Given the description of an element on the screen output the (x, y) to click on. 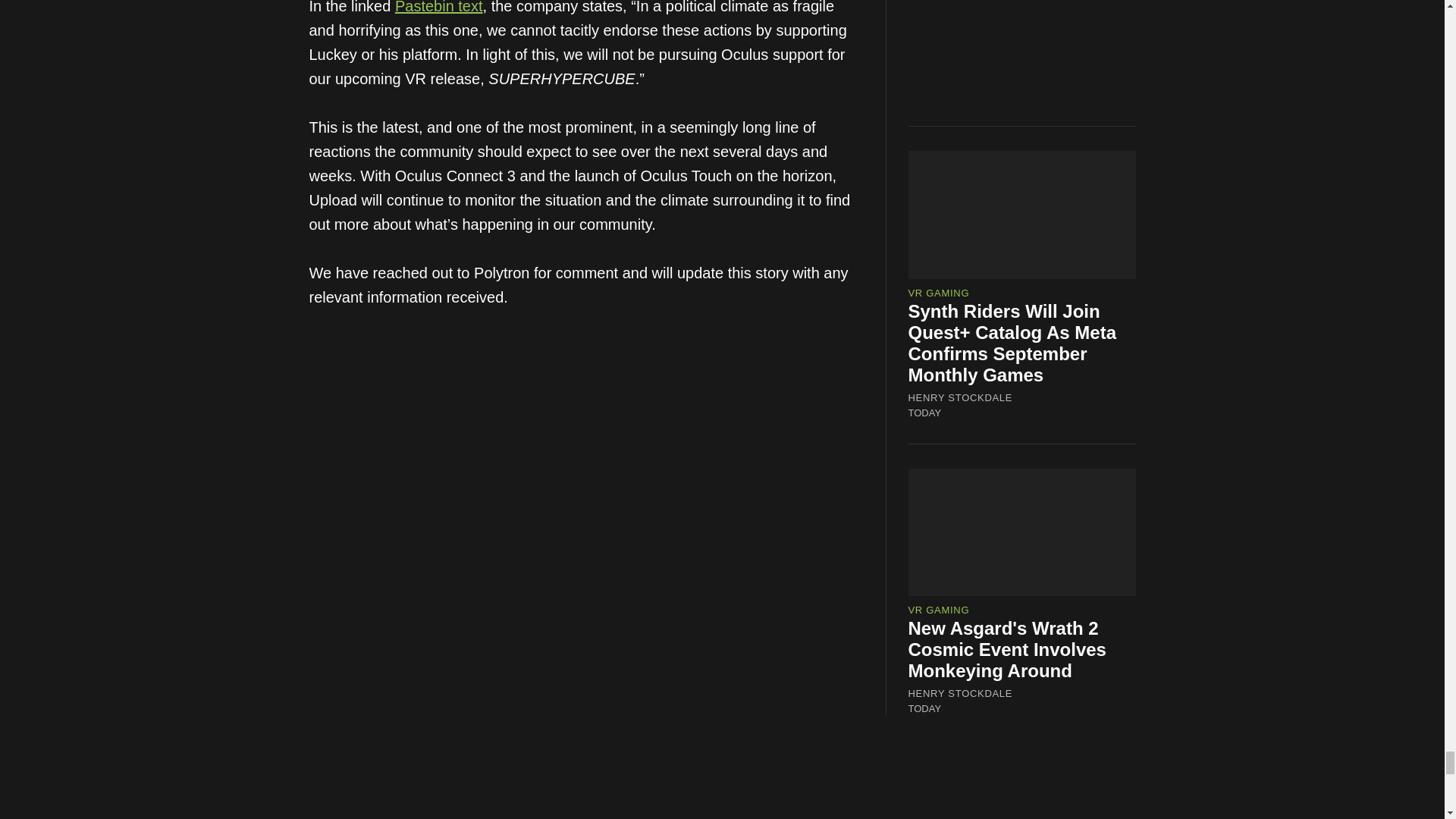
New Asgard's Wrath 2 Cosmic Event Involves Monkeying Around (1007, 649)
Pastebin text (438, 7)
VR GAMING (938, 292)
VR GAMING (938, 609)
HENRY STOCKDALE (960, 693)
HENRY STOCKDALE (960, 397)
